Given the description of an element on the screen output the (x, y) to click on. 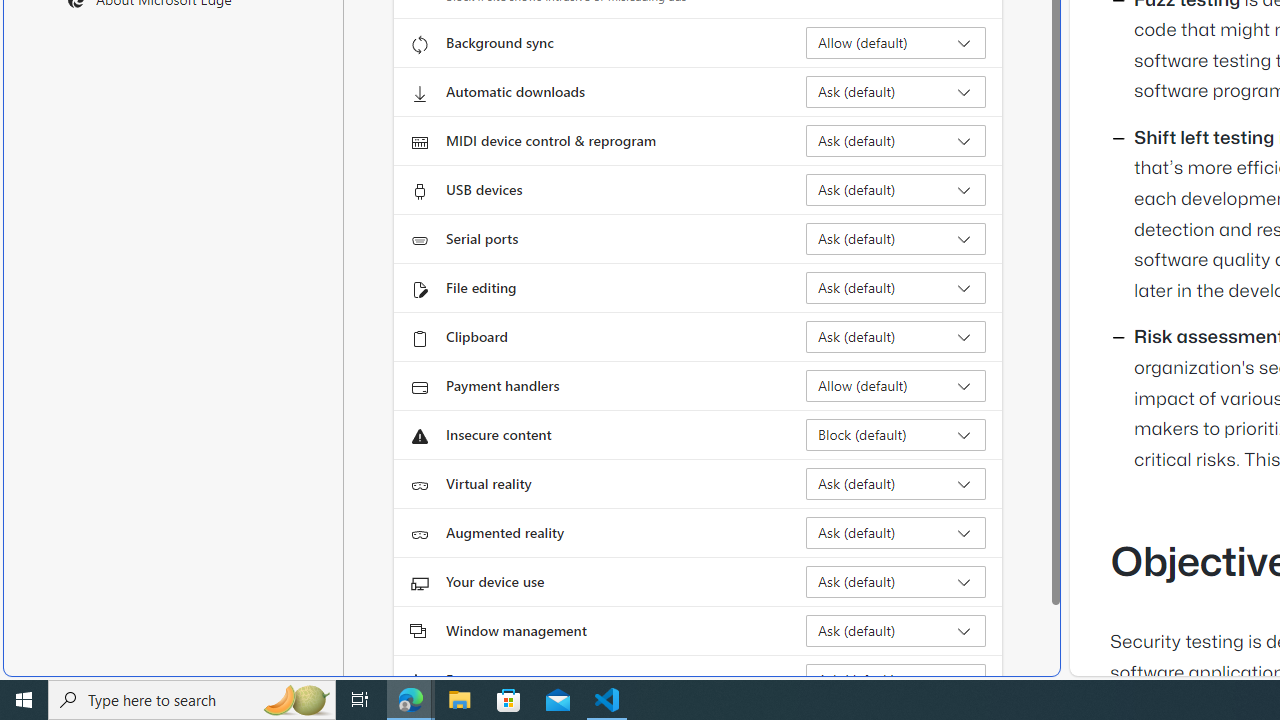
Clipboard Ask (default) (895, 336)
Augmented reality Ask (default) (895, 532)
Insecure content Block (default) (895, 434)
USB devices Ask (default) (895, 189)
Payment handlers Allow (default) (895, 385)
Virtual reality Ask (default) (895, 483)
Your device use Ask (default) (895, 581)
Automatic downloads Ask (default) (895, 92)
Background sync Allow (default) (895, 43)
Serial ports Ask (default) (895, 238)
Fonts Ask (default) (895, 679)
File editing Ask (default) (895, 287)
MIDI device control & reprogram Ask (default) (895, 140)
Window management Ask (default) (895, 630)
